Given the description of an element on the screen output the (x, y) to click on. 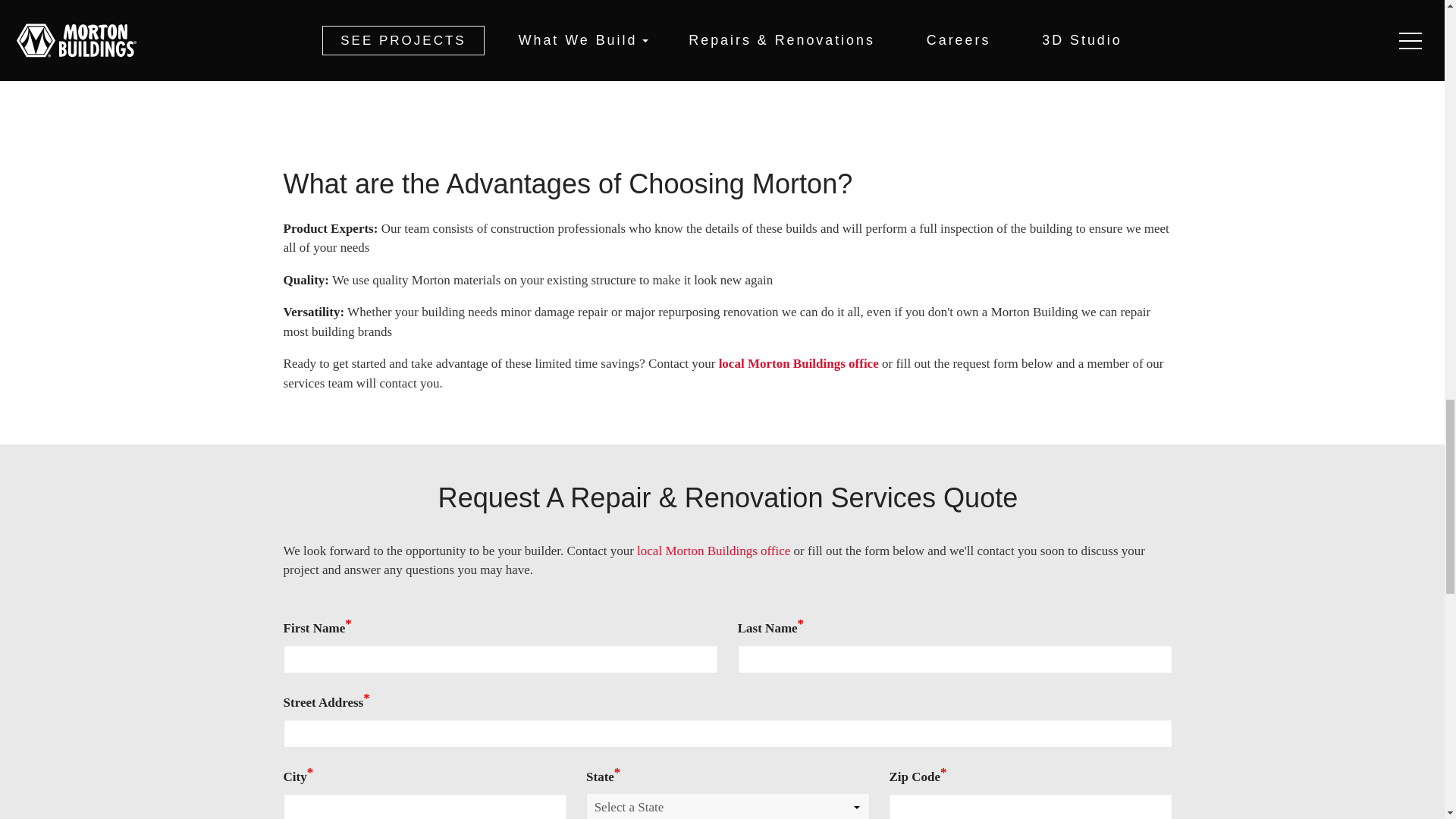
Find your local Morton Buildings office (713, 550)
